Given the description of an element on the screen output the (x, y) to click on. 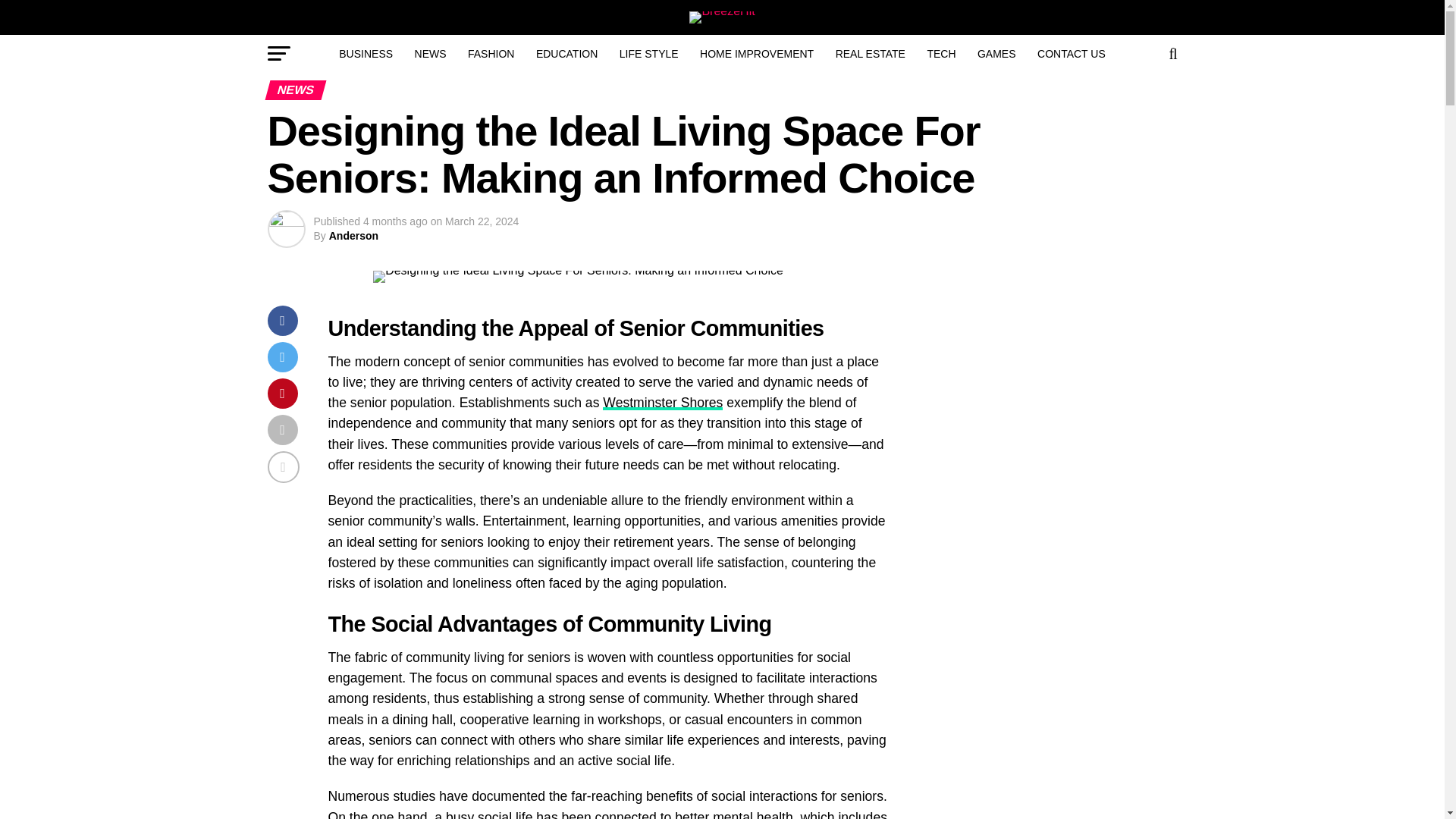
Posts by Anderson (353, 235)
EDUCATION (567, 53)
BUSINESS (365, 53)
Westminster Shores (662, 402)
LIFE STYLE (648, 53)
GAMES (996, 53)
NEWS (430, 53)
FASHION (490, 53)
HOME IMPROVEMENT (756, 53)
REAL ESTATE (870, 53)
CONTACT US (1071, 53)
Anderson (353, 235)
TECH (940, 53)
